Given the description of an element on the screen output the (x, y) to click on. 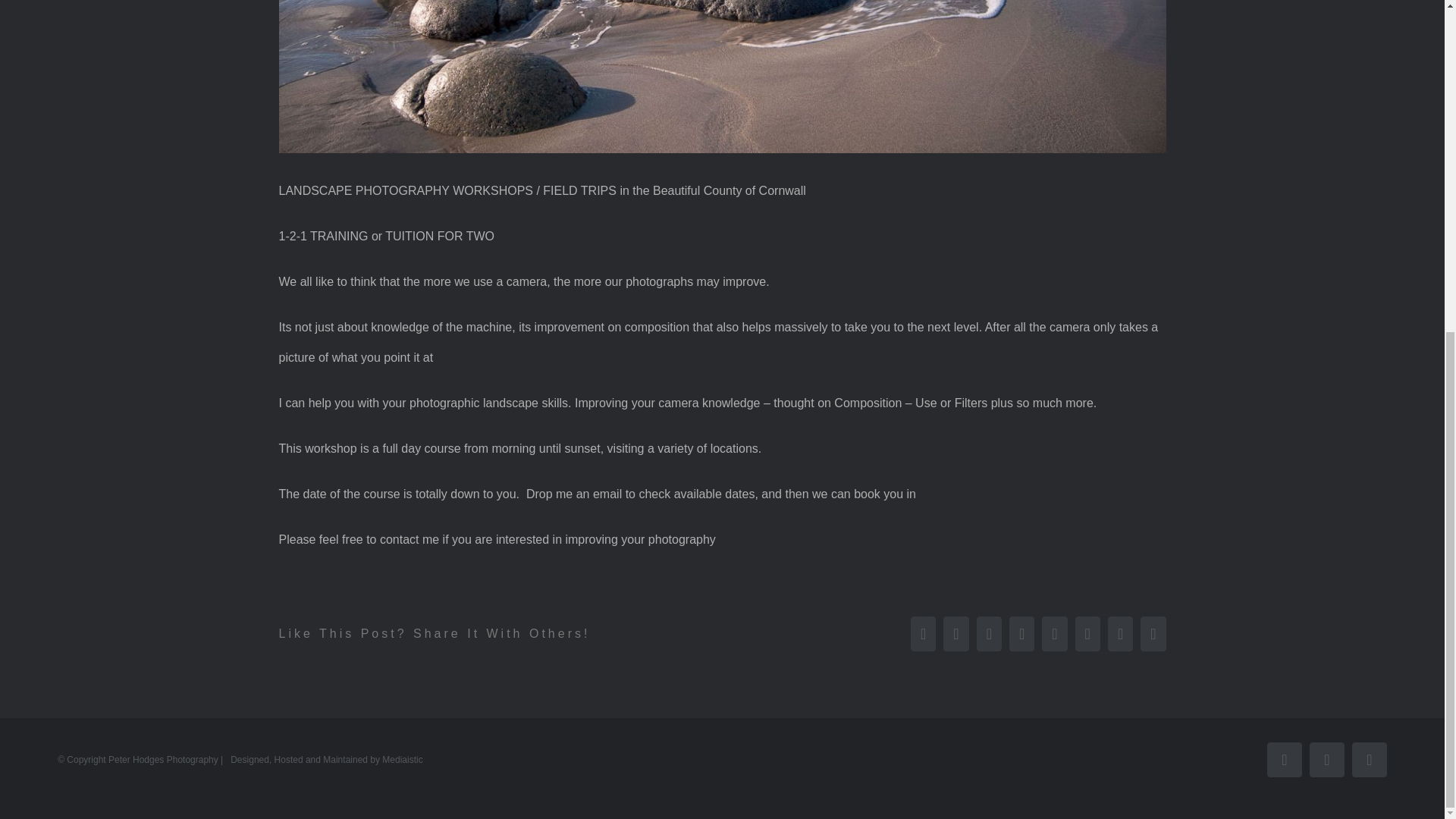
Facebook (1283, 759)
Instagram (1325, 759)
Instagram (1325, 759)
Mediaistic (401, 759)
Email (1369, 759)
Email (1369, 759)
Facebook (1283, 759)
